Given the description of an element on the screen output the (x, y) to click on. 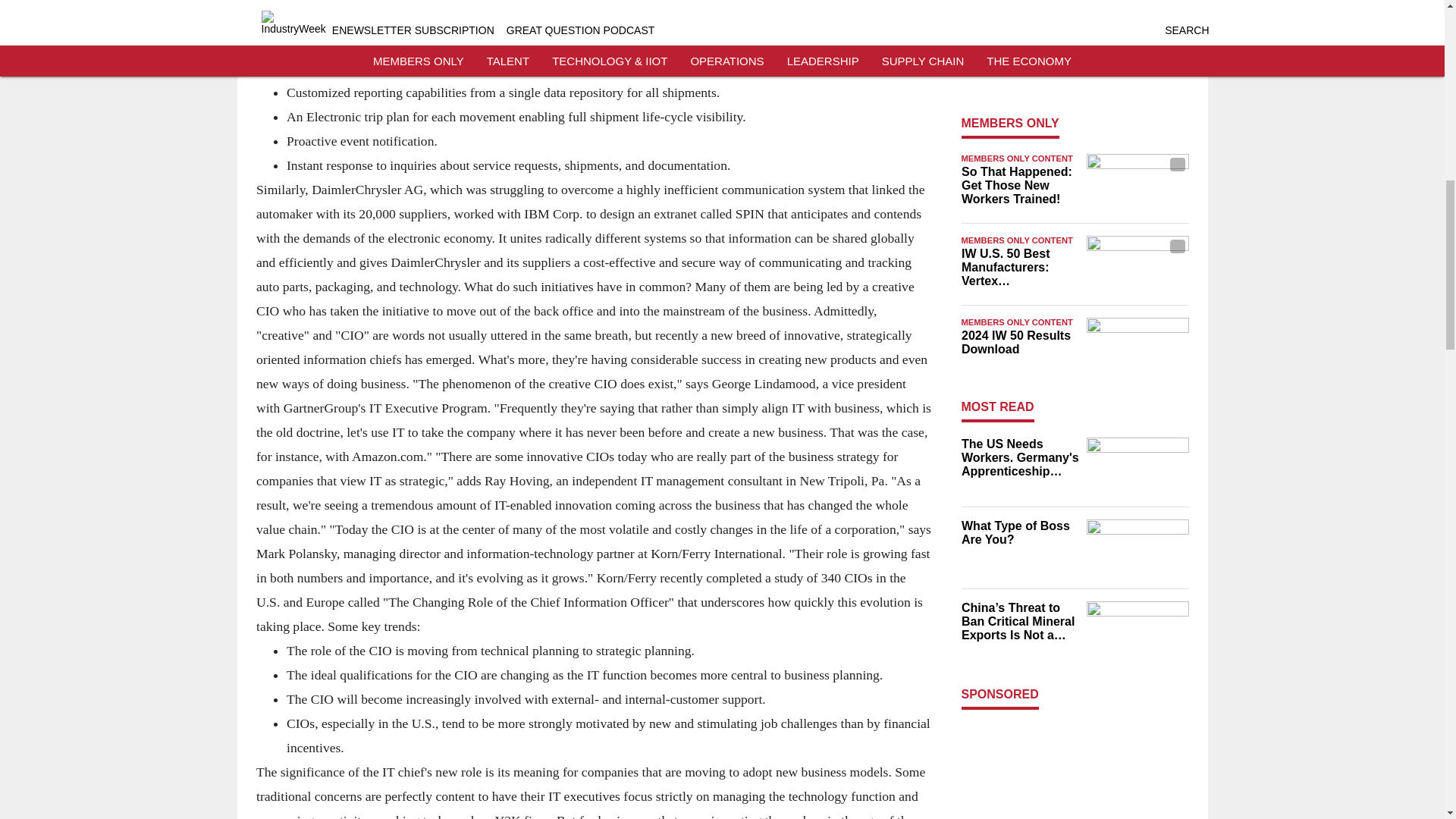
2024 IW 50 Results Download (1019, 342)
MEMBERS ONLY (1009, 123)
So That Happened: Get Those New Workers Trained! (1019, 185)
